Given the description of an element on the screen output the (x, y) to click on. 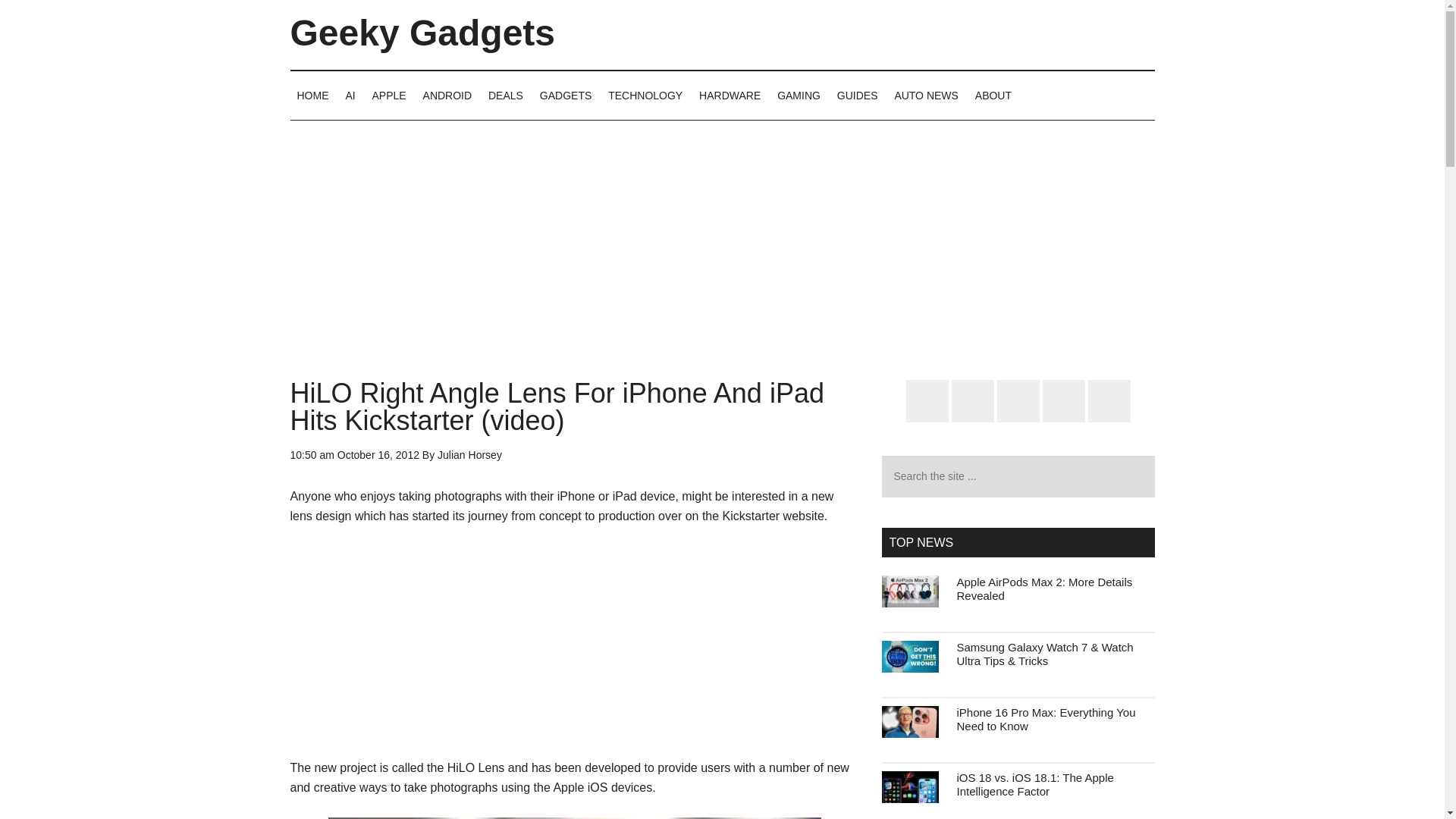
HARDWARE (730, 95)
Geeky Gadgets (421, 33)
GAMING (798, 95)
About Geeky Gadgets (992, 95)
GUIDES (857, 95)
Julian Horsey (470, 454)
AUTO NEWS (925, 95)
GADGETS (565, 95)
APPLE (389, 95)
